Given the description of an element on the screen output the (x, y) to click on. 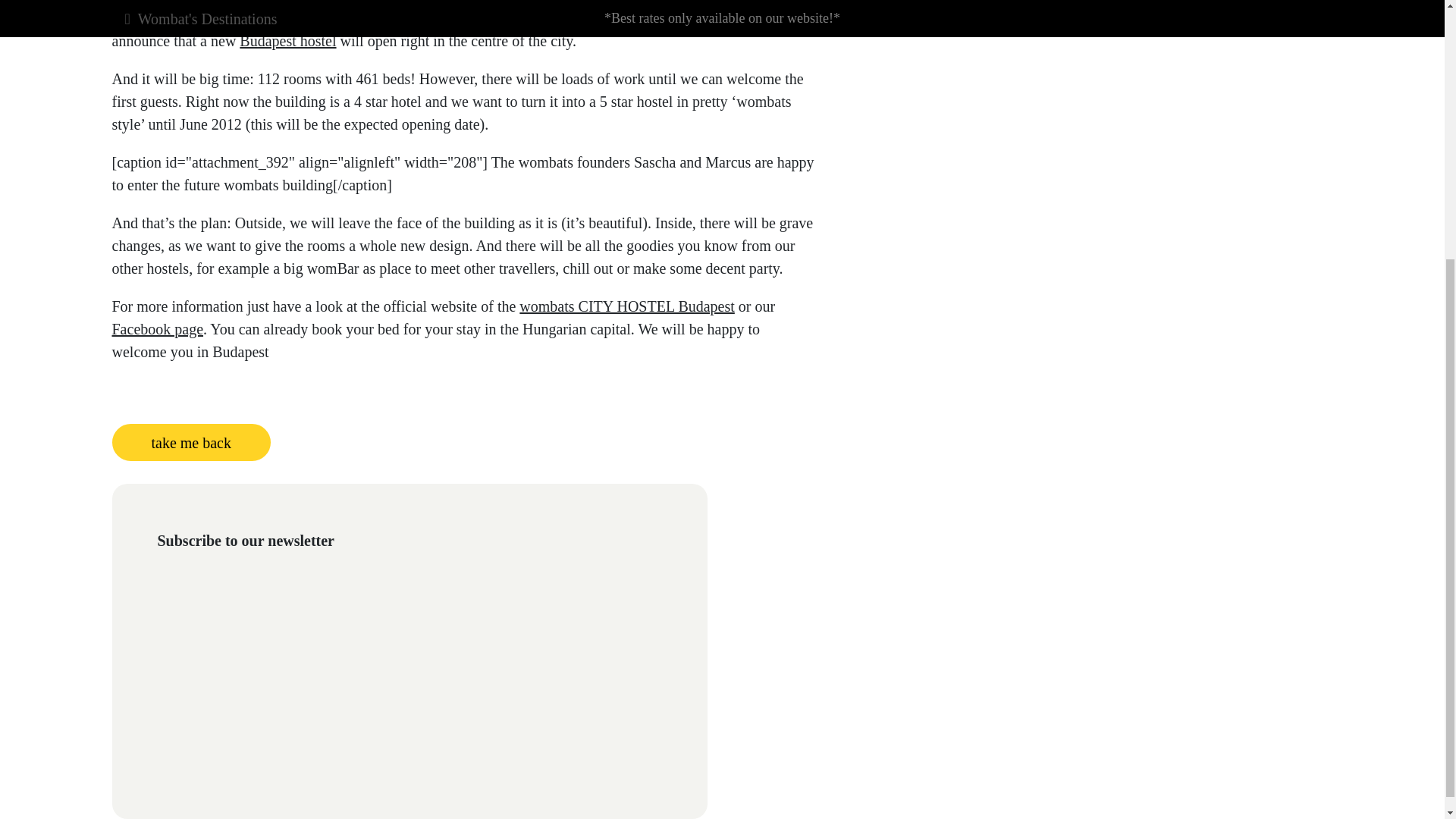
wombats CITY HOSTEL Budapest (627, 306)
Budapest hostel (288, 40)
back to overview (191, 442)
take me back (191, 442)
Facebook page (157, 329)
